Given the description of an element on the screen output the (x, y) to click on. 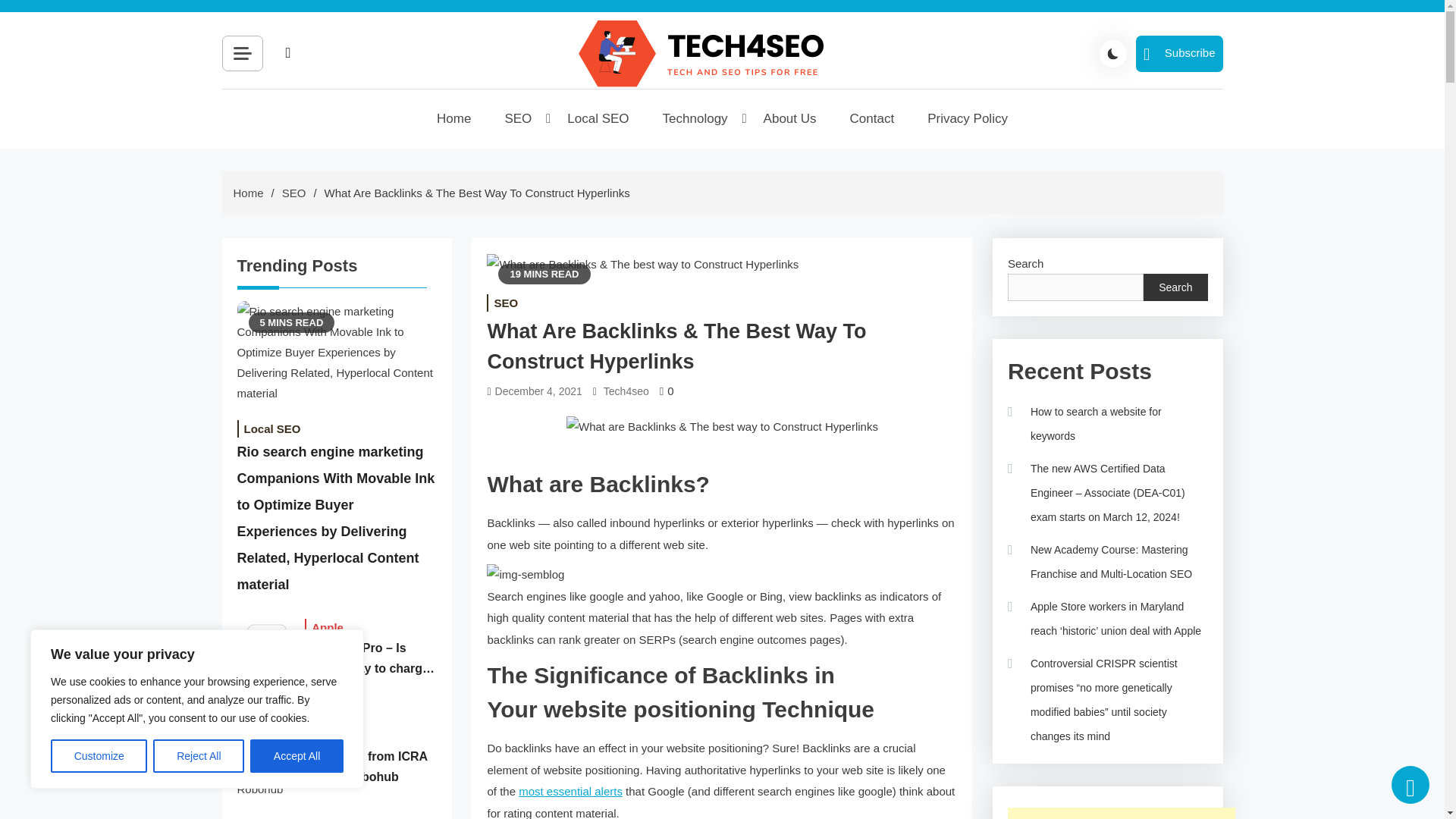
Customize (98, 756)
Accept All (296, 756)
Reject All (198, 756)
